Given the description of an element on the screen output the (x, y) to click on. 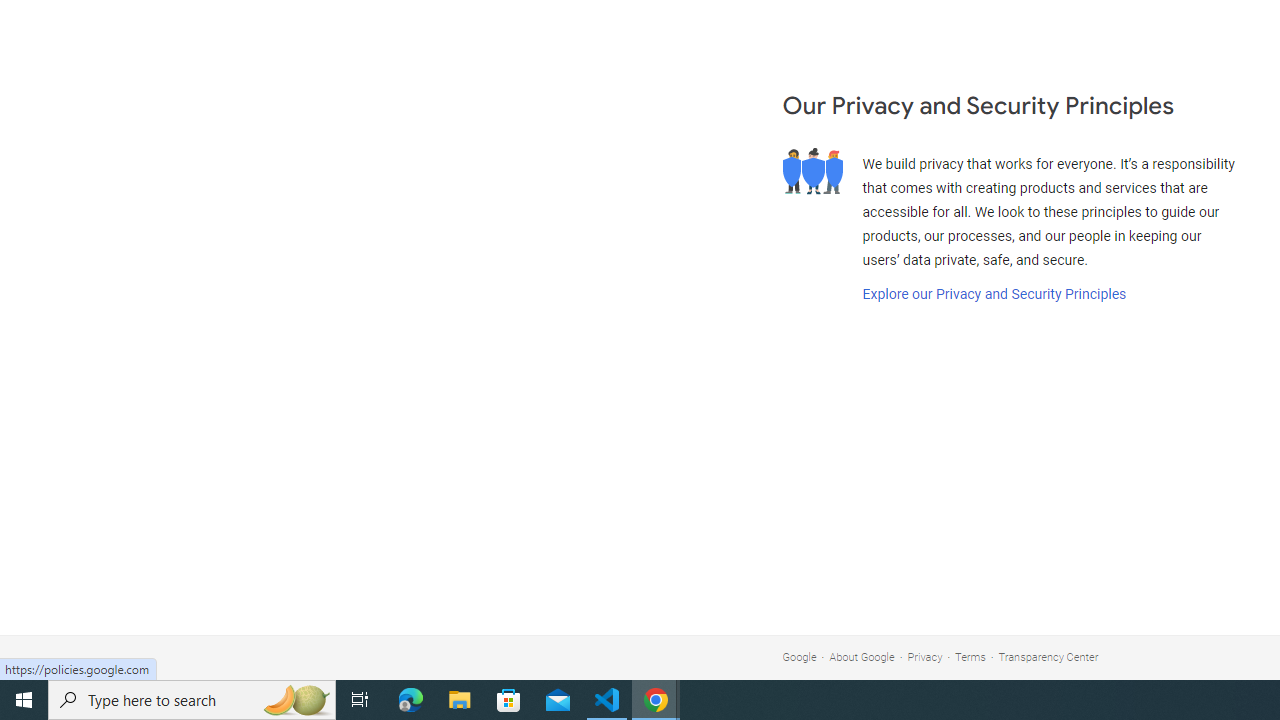
Terms (969, 656)
Google (799, 656)
Privacy (925, 656)
About Google (861, 656)
Transparency Center (1048, 656)
Explore our Privacy and Security Principles (993, 294)
